Given the description of an element on the screen output the (x, y) to click on. 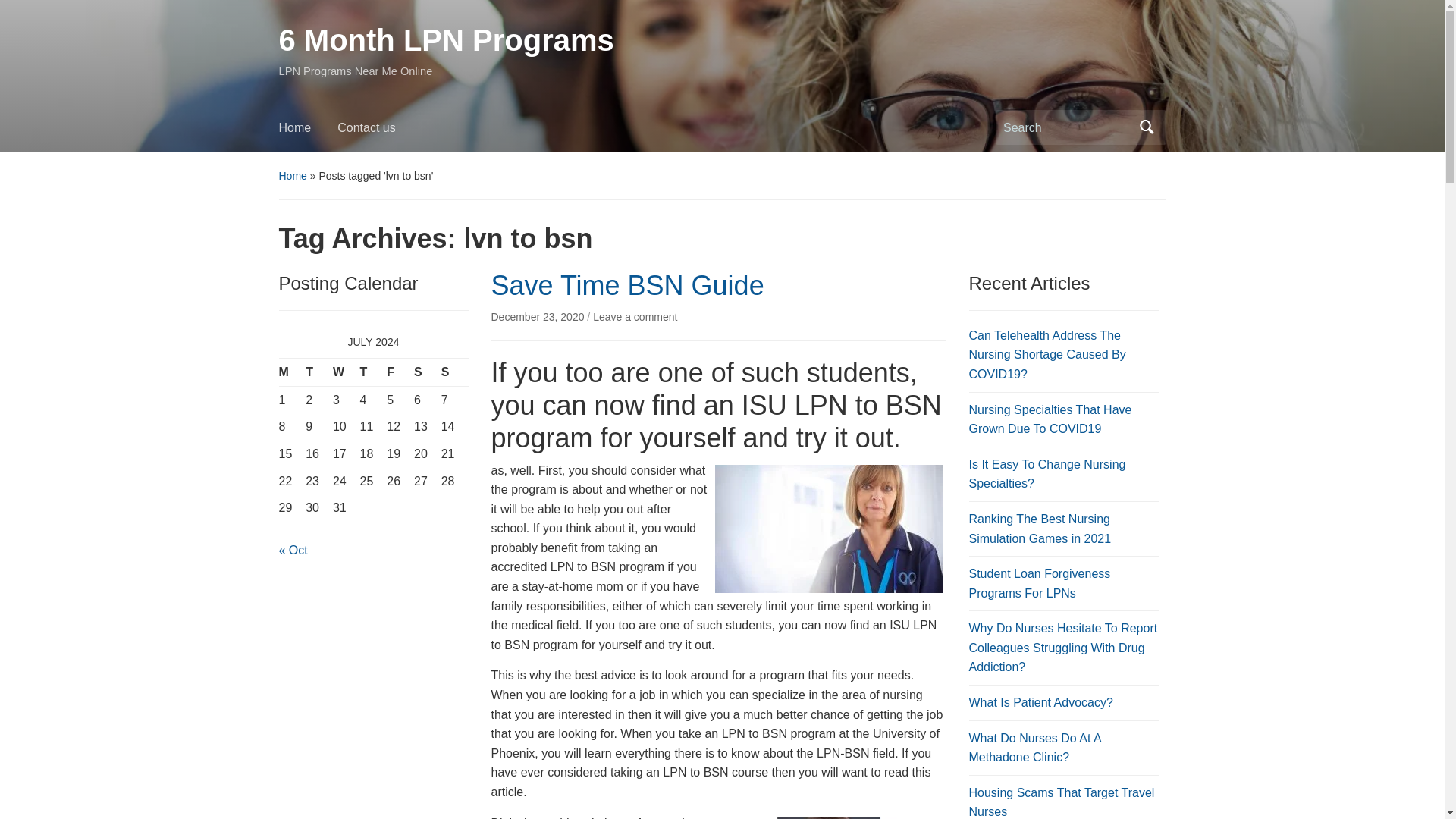
Contact us (379, 131)
Friday (400, 372)
Home (293, 175)
What Do Nurses Do At A Methadone Clinic? (1034, 748)
Save Time BSN Guide (628, 285)
Monday (292, 372)
Saturday (427, 372)
Ranking The Best Nursing Simulation Games in 2021 (1040, 528)
What Is Patient Advocacy? (1041, 702)
Tuesday (319, 372)
Wednesday (346, 372)
6 Month LPN Programs - LPN Programs Near Me Online (446, 39)
6 Month LPN Programs (446, 39)
Nursing Specialties That Have Grown Due To COVID19 (1050, 419)
Permanent Link to Save Time BSN Guide (540, 316)
